Given the description of an element on the screen output the (x, y) to click on. 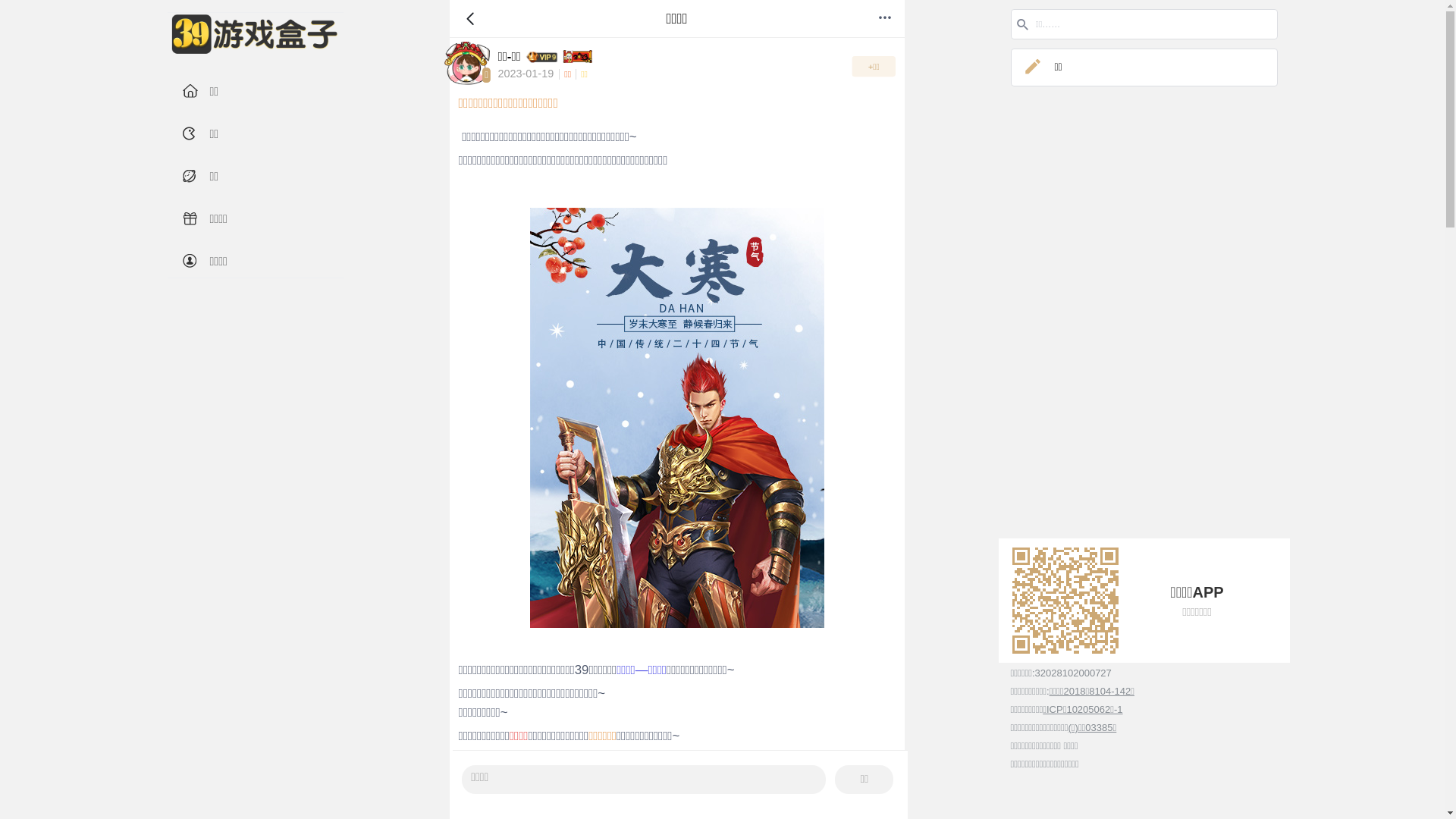
https://bbs.3975.com/interface/package-app-link Element type: hover (1064, 600)
